Given the description of an element on the screen output the (x, y) to click on. 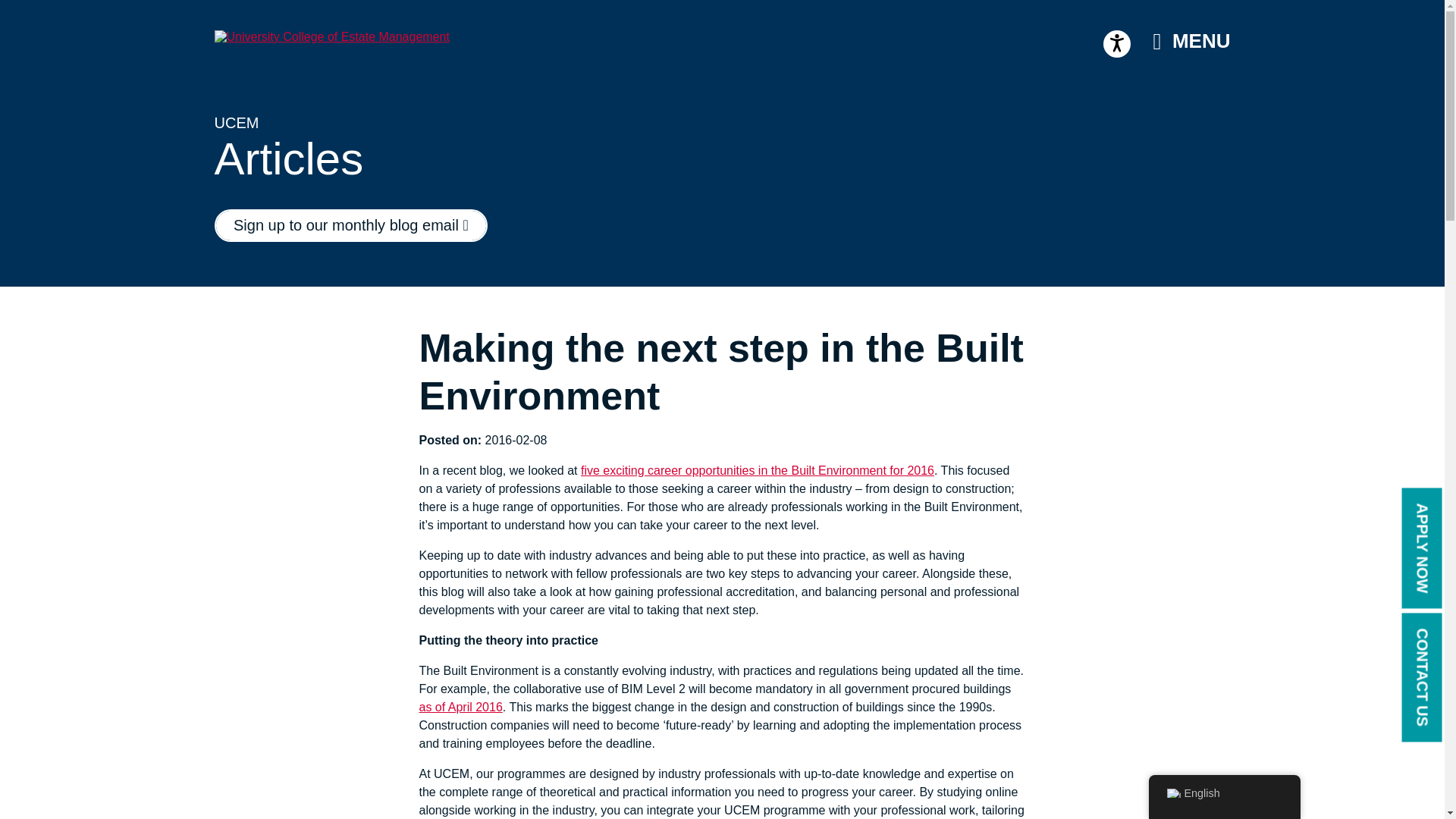
  MENU (1191, 41)
English (1172, 792)
Accessibility (1117, 43)
